Given the description of an element on the screen output the (x, y) to click on. 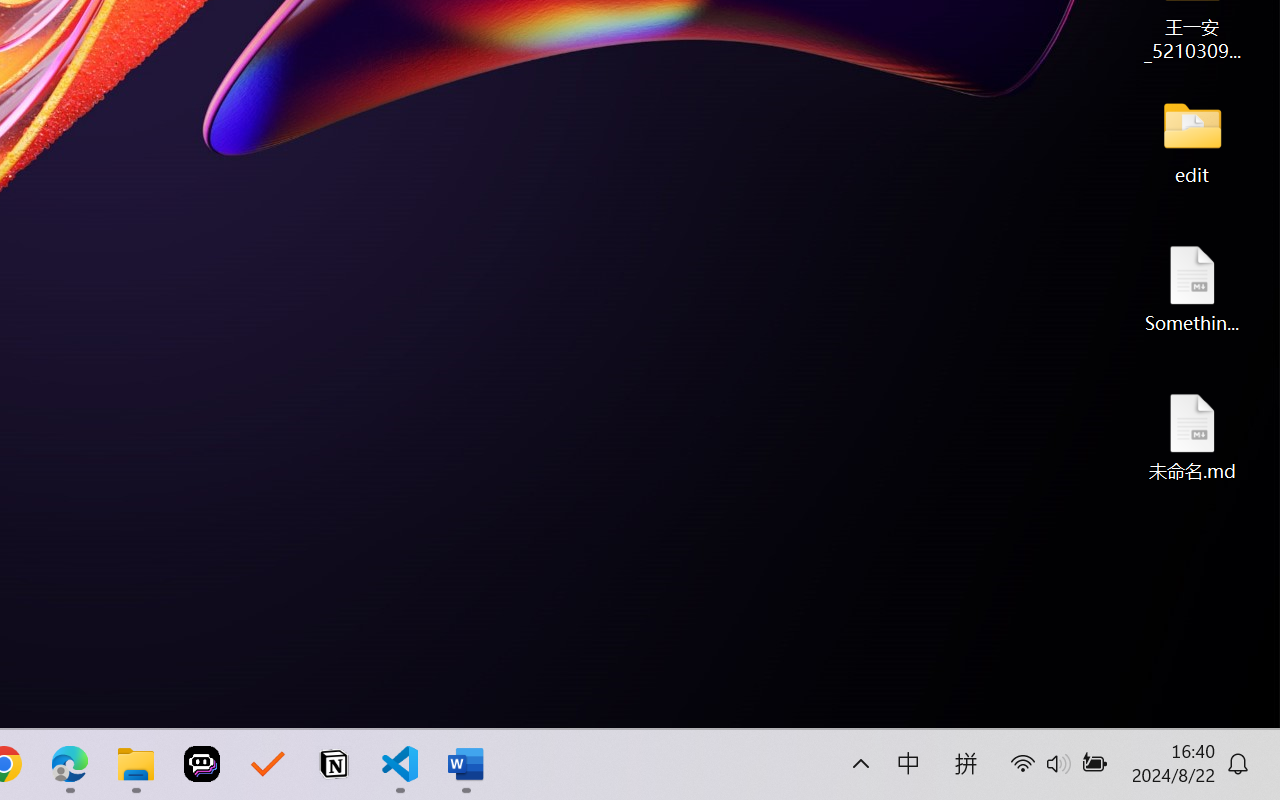
edit (1192, 140)
Notion (333, 764)
Poe (201, 764)
Something.md (1192, 288)
